Given the description of an element on the screen output the (x, y) to click on. 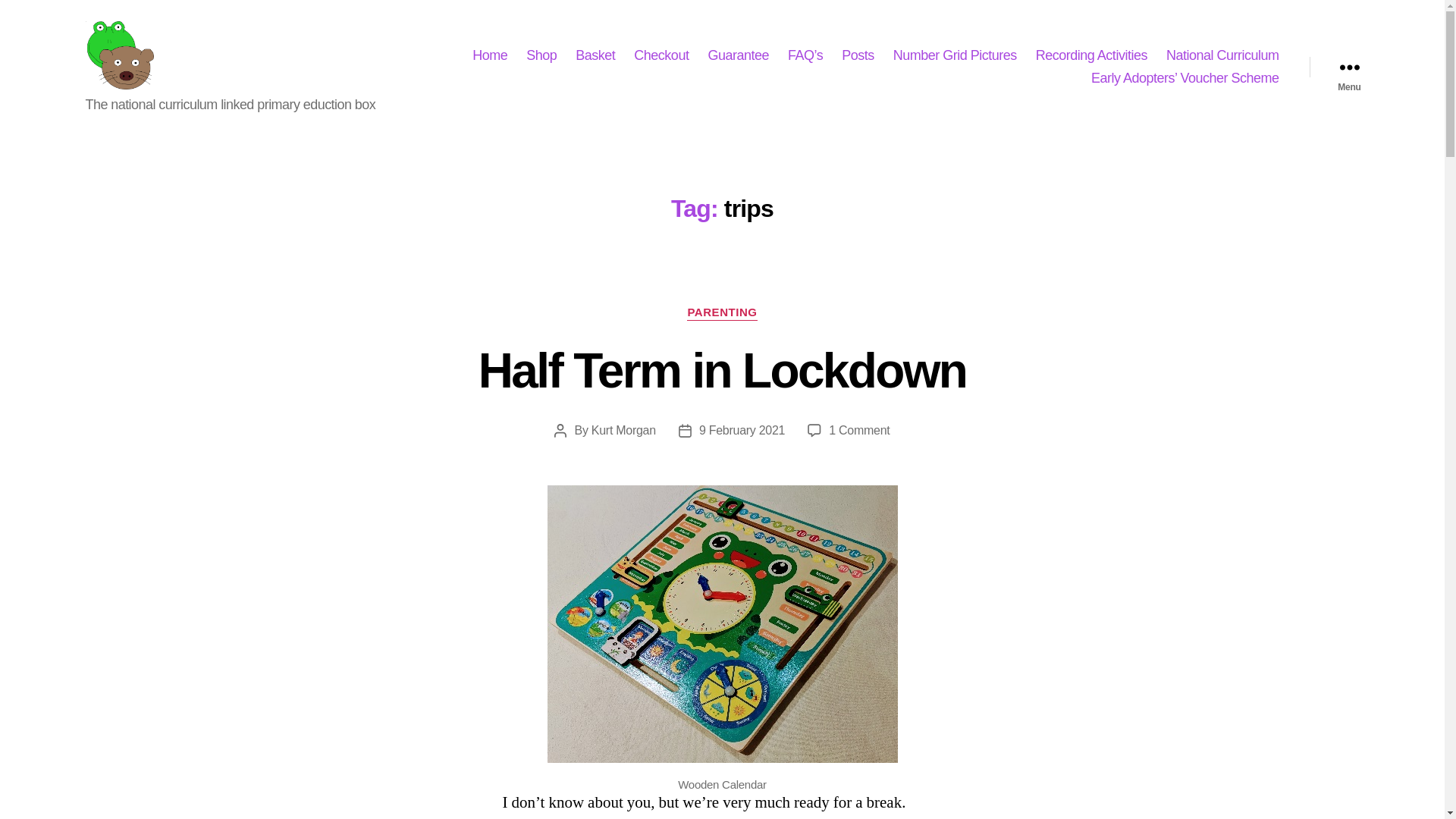
National Curriculum (1222, 55)
Posts (858, 55)
Checkout (660, 55)
Shop (540, 55)
Menu (1348, 66)
Recording Activities (1091, 55)
Home (488, 55)
Number Grid Pictures (954, 55)
Basket (594, 55)
Guarantee (737, 55)
